Given the description of an element on the screen output the (x, y) to click on. 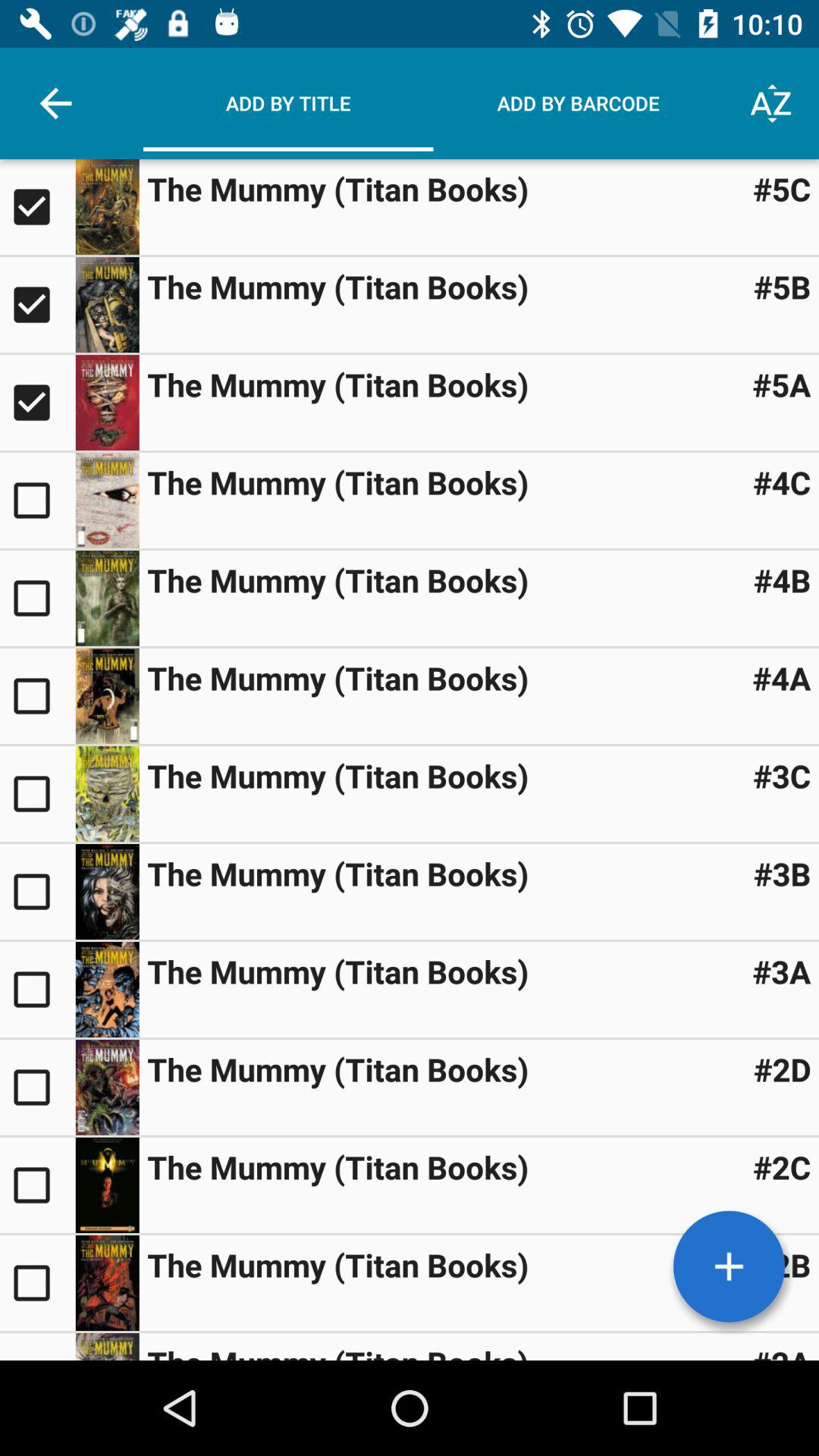
a certain book (107, 793)
